Given the description of an element on the screen output the (x, y) to click on. 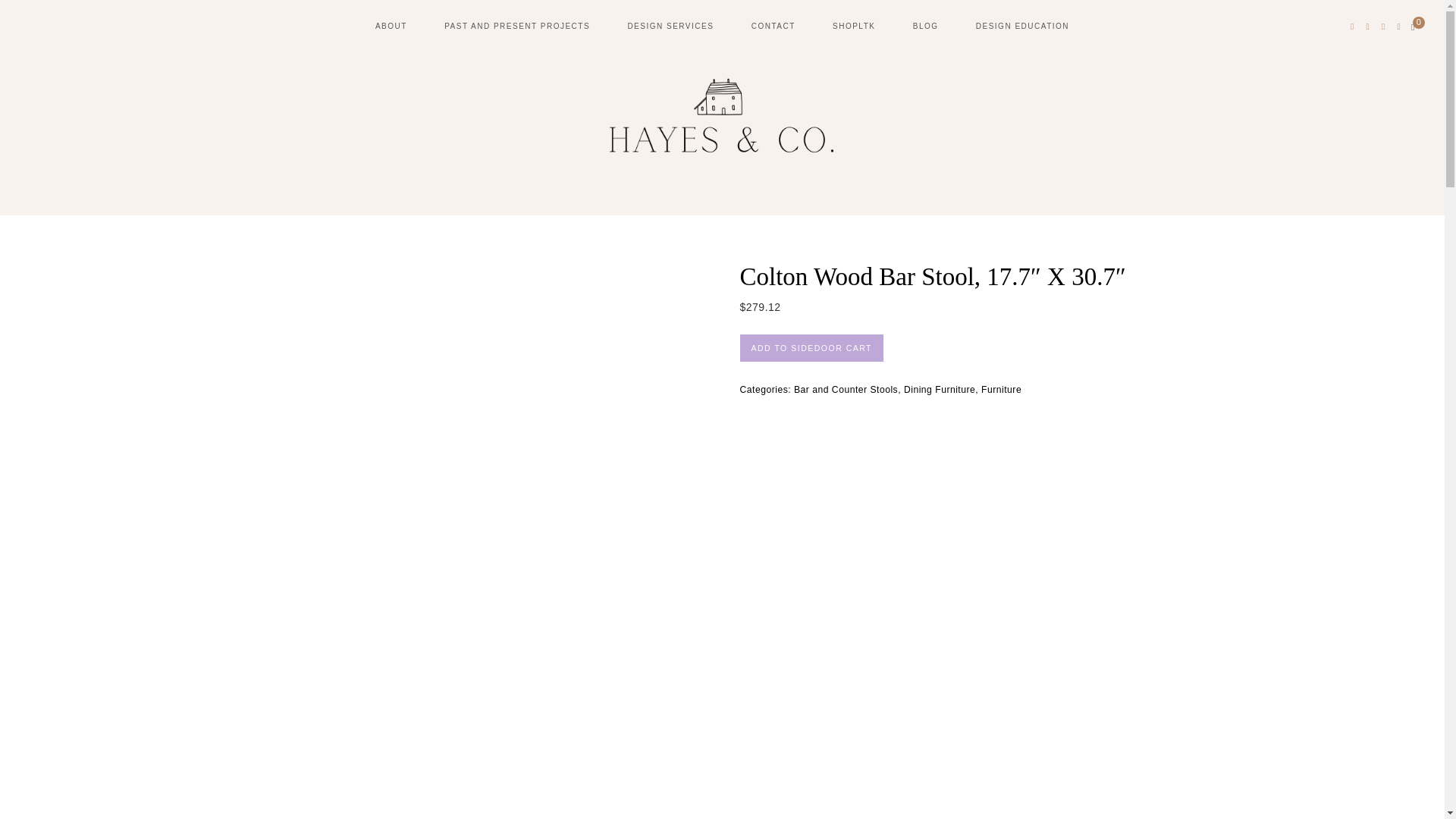
DESIGN EDUCATION (1021, 26)
Furniture (1001, 389)
CONTACT (772, 26)
DESIGN SERVICES (670, 26)
SHOPLTK (853, 26)
Dining Furniture (939, 389)
PAST AND PRESENT PROJECTS (516, 26)
Bar and Counter Stools (845, 389)
ADD TO SIDEDOOR CART (811, 348)
